Given the description of an element on the screen output the (x, y) to click on. 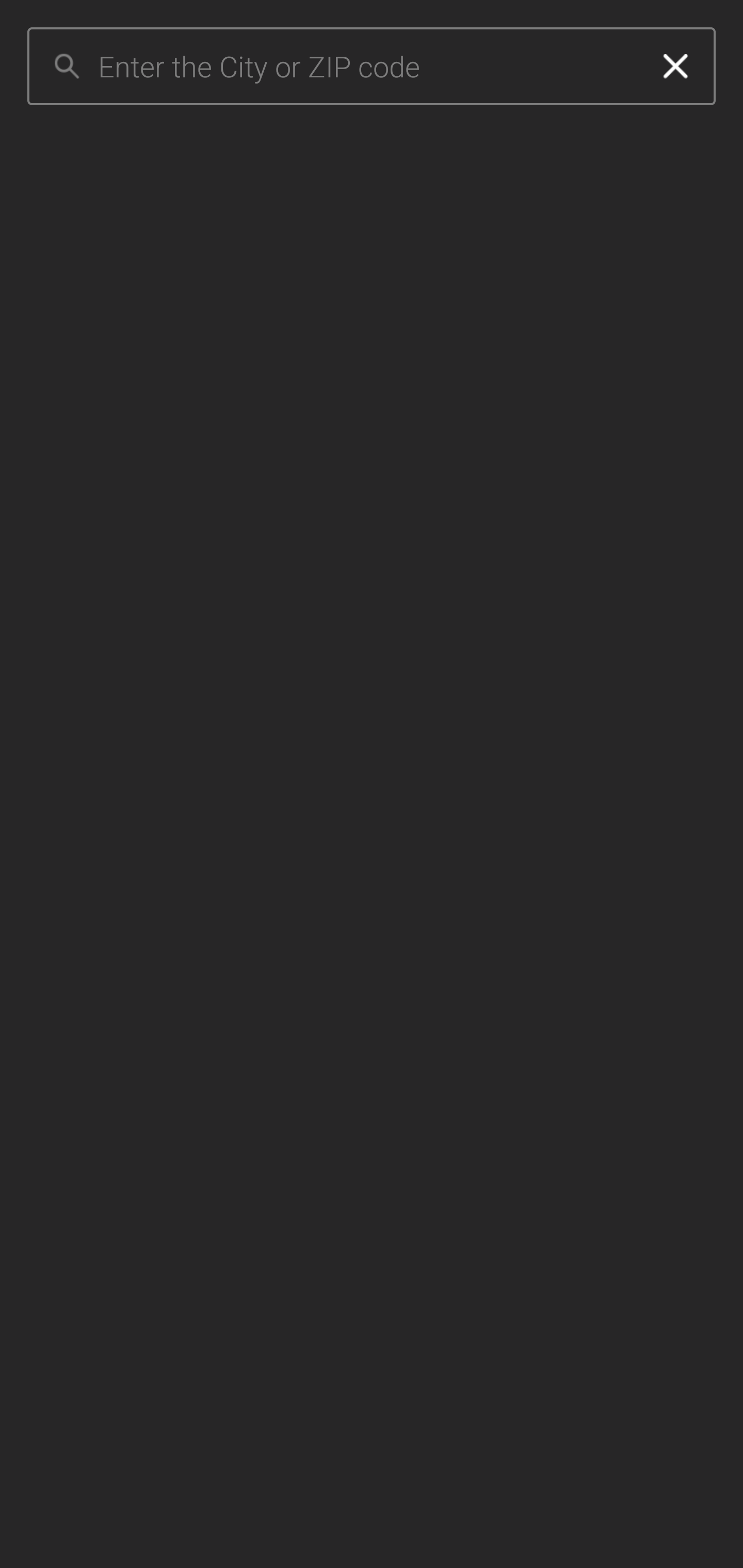
Enter the City or ZIP code (367, 66)
